Given the description of an element on the screen output the (x, y) to click on. 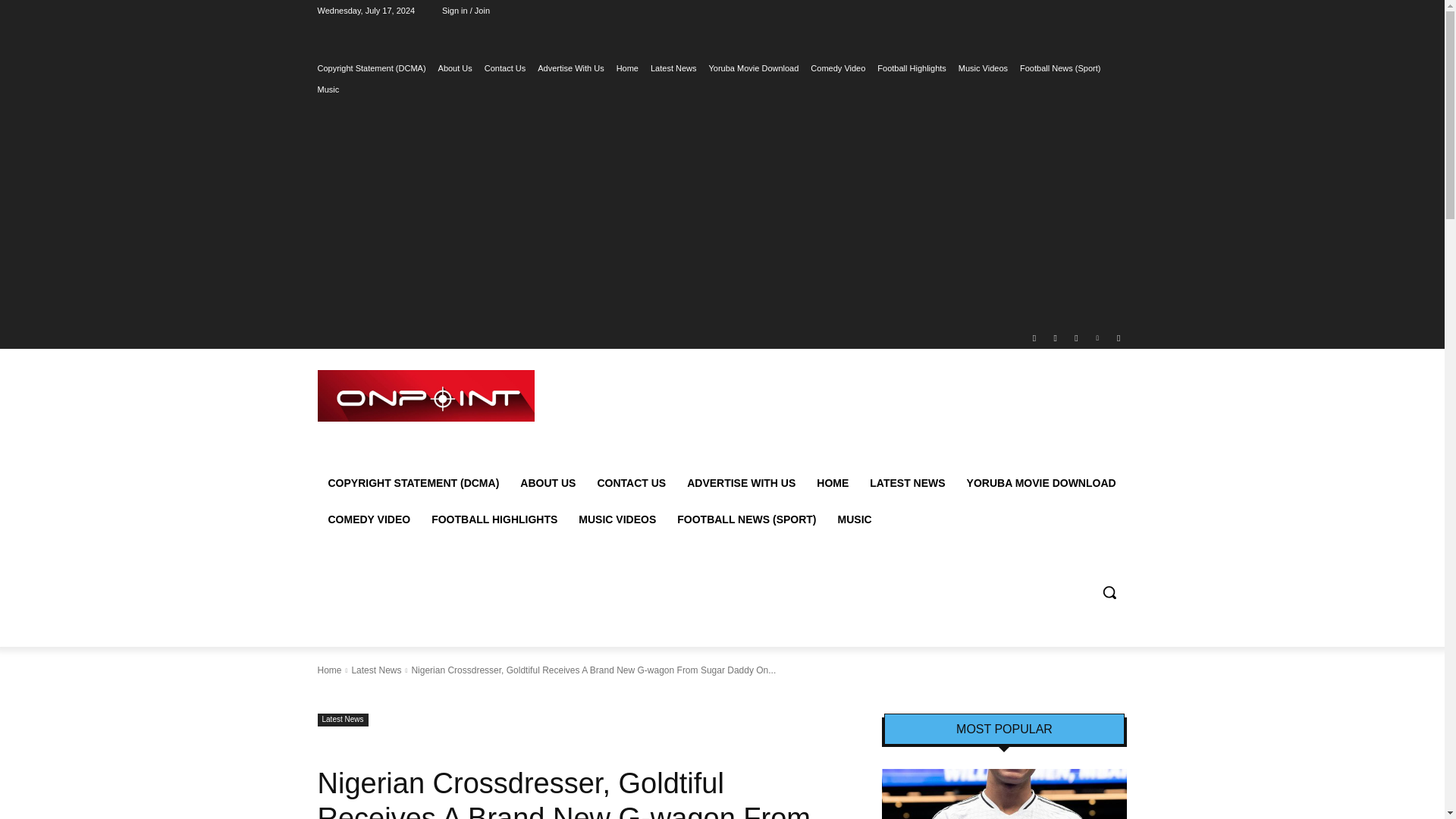
Latest News (673, 67)
Football Highlights (911, 67)
Youtube (1117, 337)
CONTACT US (631, 483)
Contact Us (504, 67)
Yoruba Movie Download (754, 67)
About Us (454, 67)
View all posts in Latest News (375, 670)
Comedy Video (837, 67)
ABOUT US (547, 483)
Vimeo (1097, 337)
Music Videos (982, 67)
Facebook (1034, 337)
Home (627, 67)
Music (328, 88)
